Given the description of an element on the screen output the (x, y) to click on. 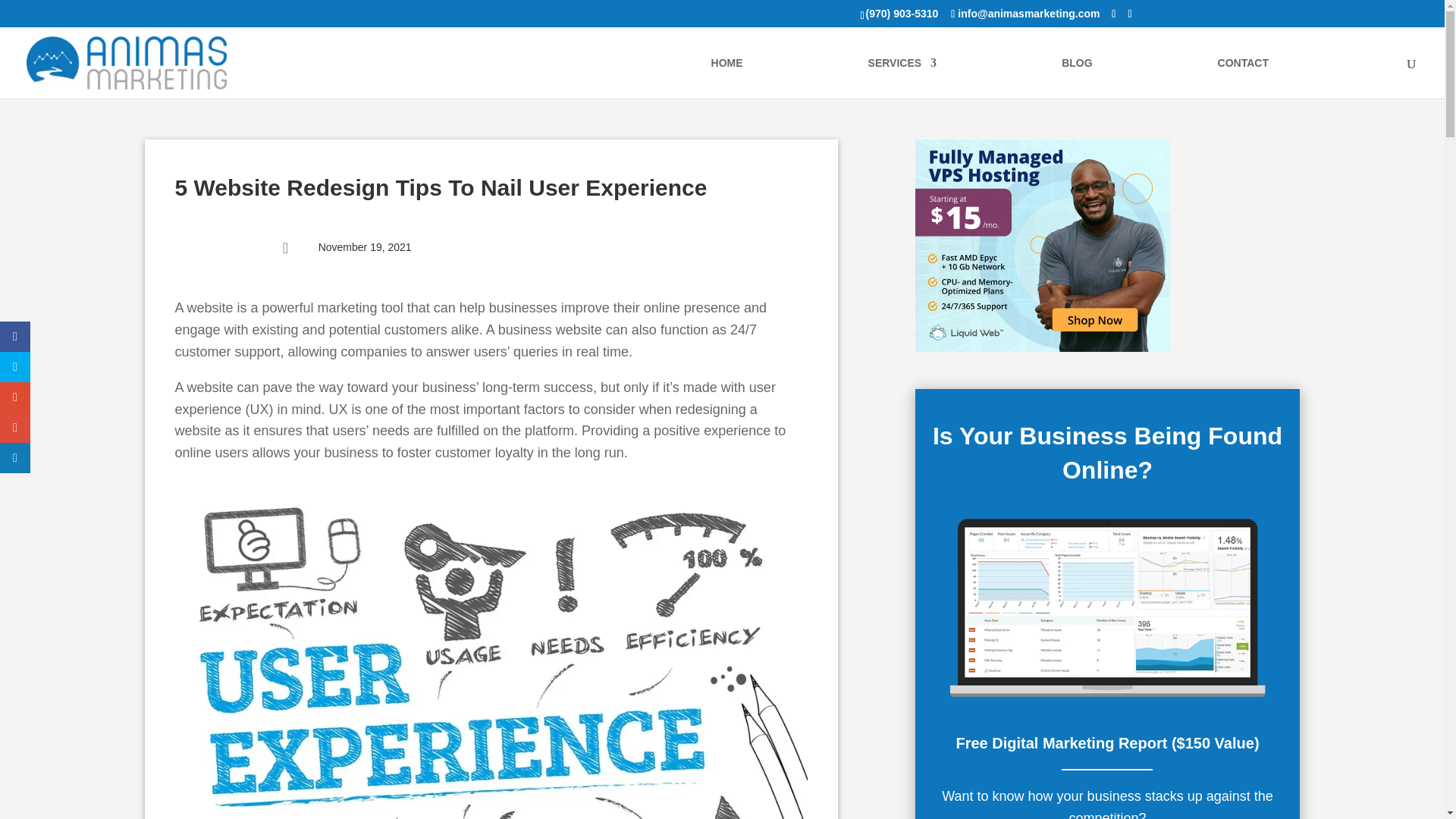
SERVICES (902, 77)
CONTACT (1242, 77)
